Given the description of an element on the screen output the (x, y) to click on. 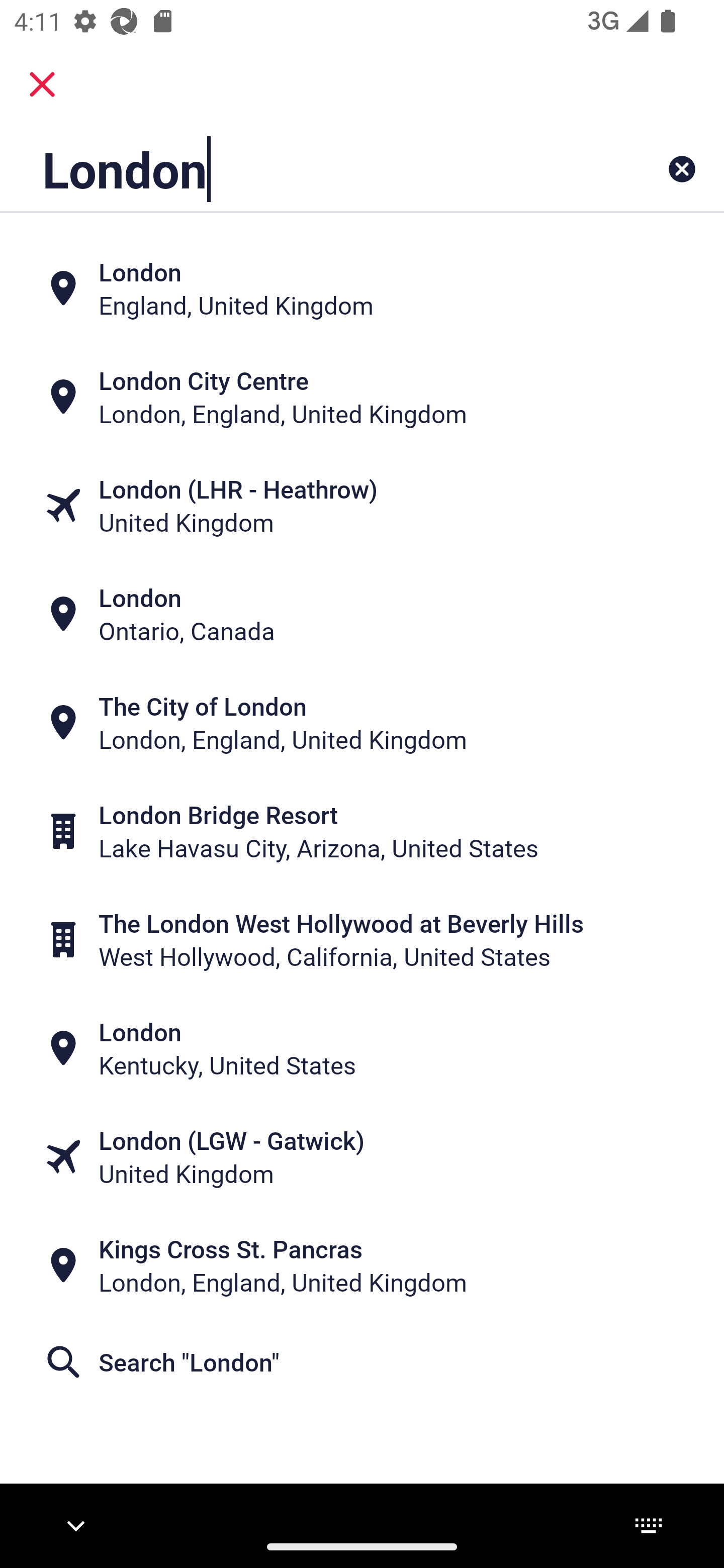
close. (42, 84)
Clear (681, 169)
London (298, 169)
London England, United Kingdom (362, 288)
London City Centre London, England, United Kingdom (362, 397)
London (LHR - Heathrow) United Kingdom (362, 505)
London Ontario, Canada (362, 613)
The City of London London, England, United Kingdom (362, 722)
London Kentucky, United States (362, 1048)
London (LGW - Gatwick) United Kingdom (362, 1156)
Search "London" (362, 1362)
